Given the description of an element on the screen output the (x, y) to click on. 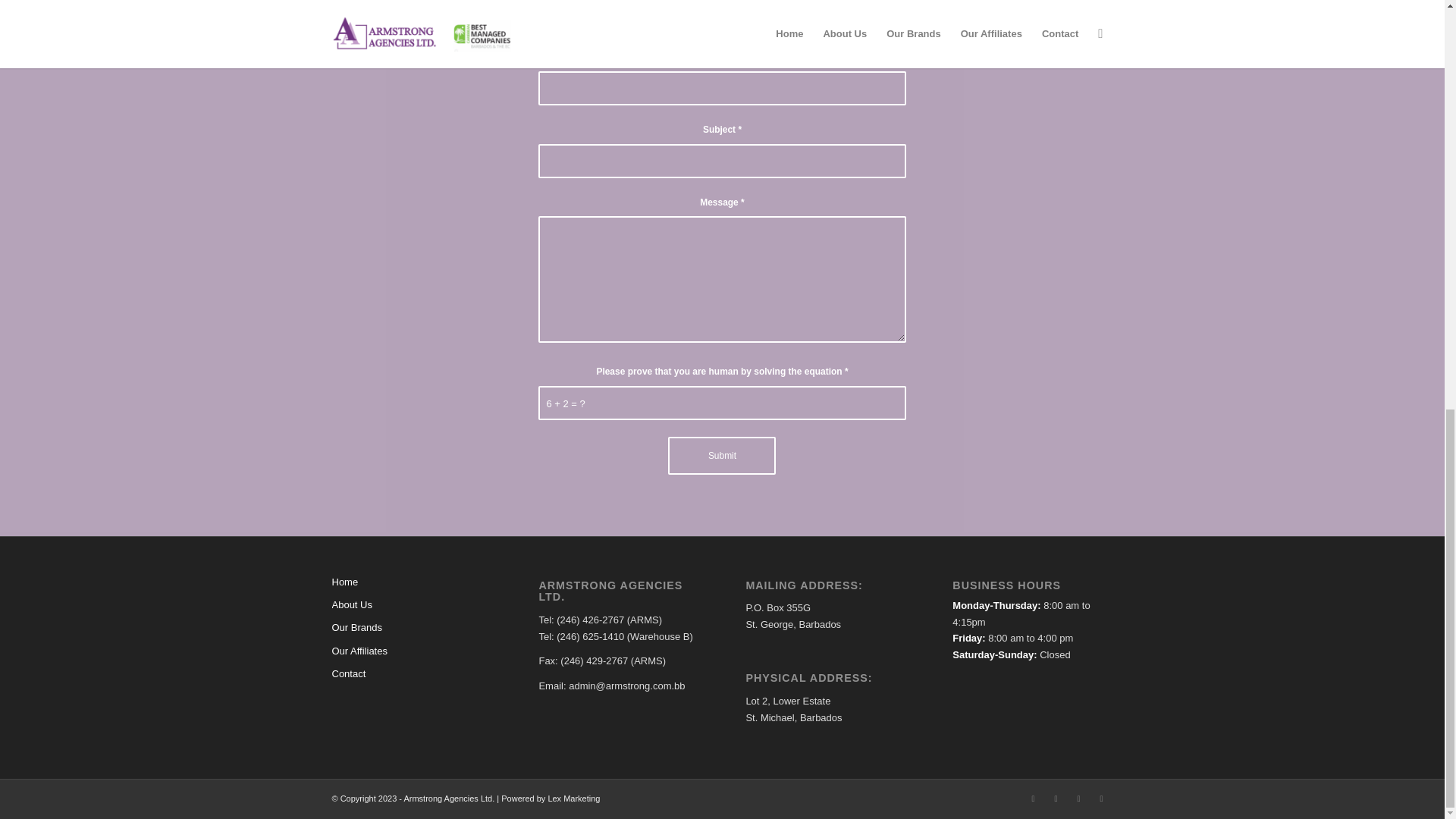
About Us (411, 604)
Our Affiliates (411, 650)
Contact (411, 673)
Facebook (1033, 798)
Home (411, 581)
Submit (722, 455)
Submit (722, 455)
Our Brands (411, 627)
Instagram (1056, 798)
LinkedIn (1078, 798)
